Given the description of an element on the screen output the (x, y) to click on. 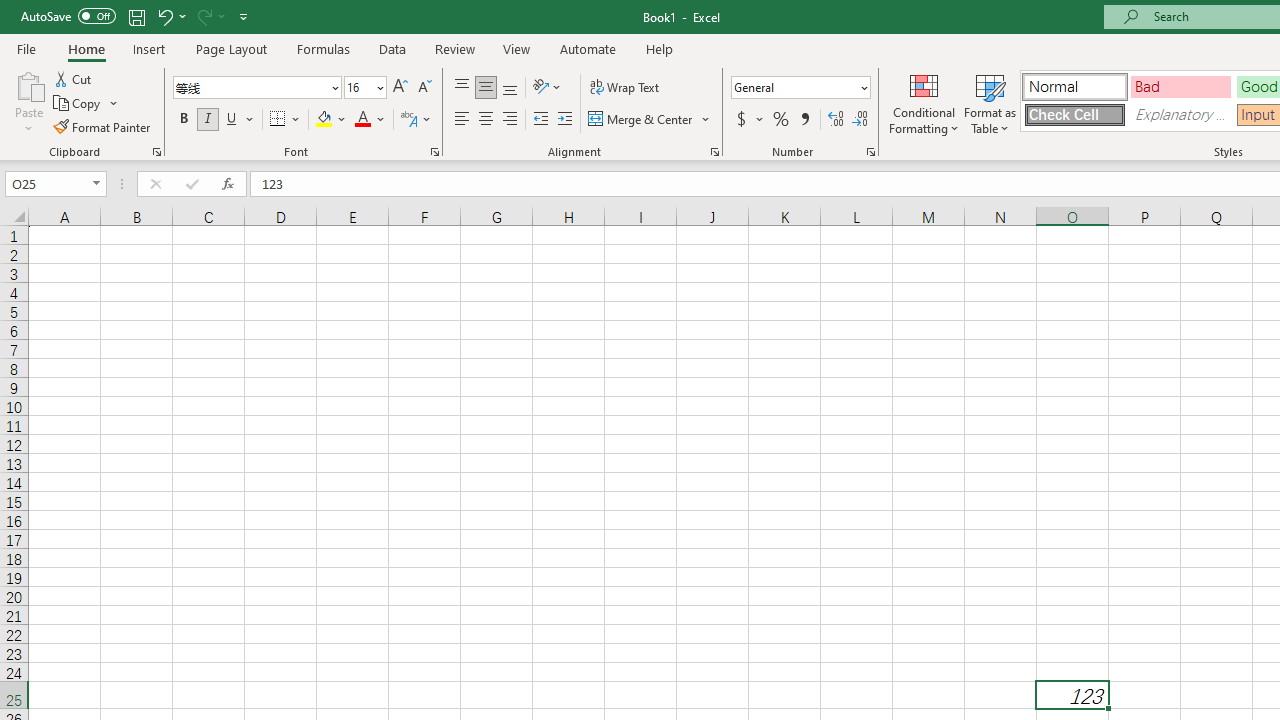
Bold (183, 119)
Top Align (461, 87)
Accounting Number Format (741, 119)
Copy (78, 103)
Show Phonetic Field (416, 119)
Insert (149, 48)
Font Size (365, 87)
Fill Color (331, 119)
Format Cell Font (434, 151)
Name Box (56, 183)
AutoSave (68, 16)
Center (485, 119)
Accounting Number Format (749, 119)
Borders (285, 119)
